Given the description of an element on the screen output the (x, y) to click on. 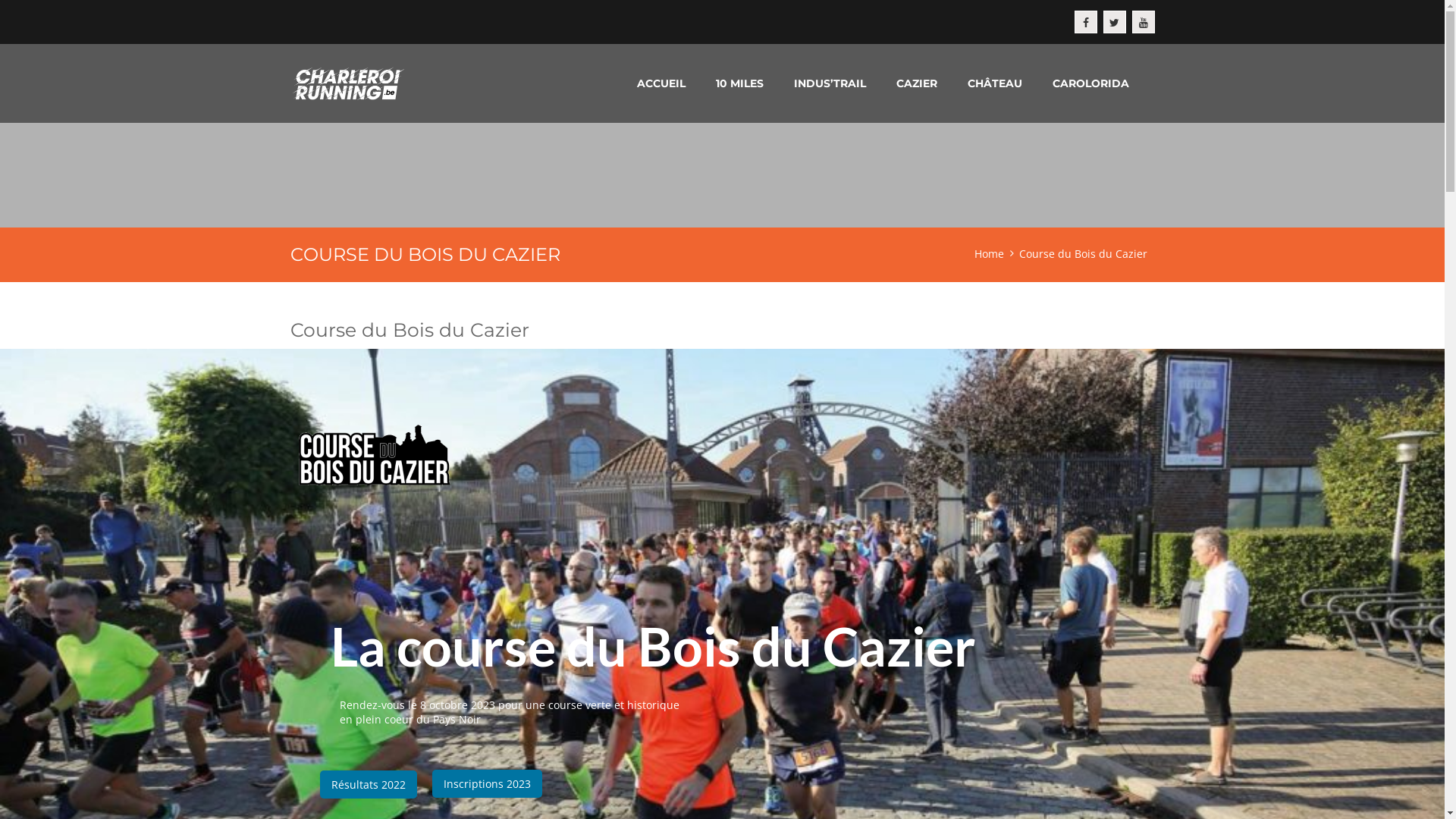
10 MILES Element type: text (739, 82)
Inscriptions 2023 Element type: text (487, 783)
ACCUEIL Element type: text (661, 82)
Home Element type: text (988, 253)
CAROLORIDA Element type: text (1090, 82)
CAZIER Element type: text (916, 82)
